Given the description of an element on the screen output the (x, y) to click on. 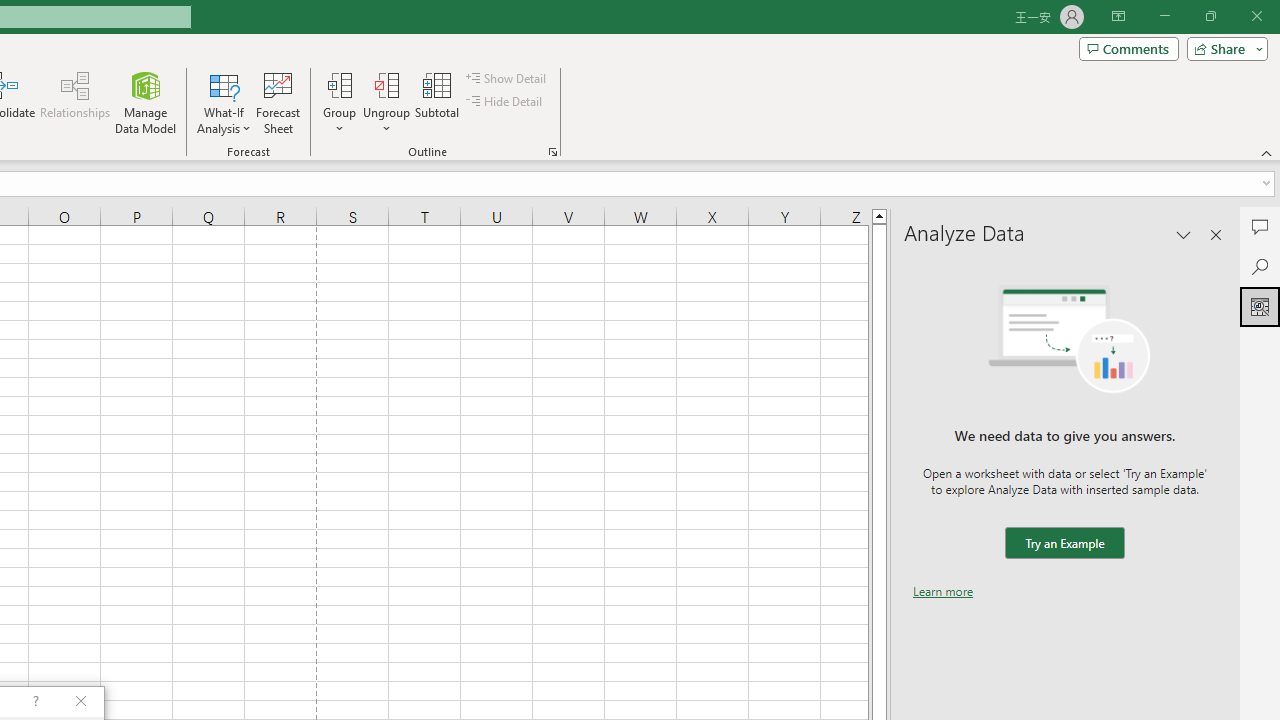
Subtotal (437, 102)
Forecast Sheet (278, 102)
Learn more (943, 591)
Show Detail (507, 78)
Group and Outline Settings (552, 151)
We need data to give you answers. Try an Example (1064, 543)
